Given the description of an element on the screen output the (x, y) to click on. 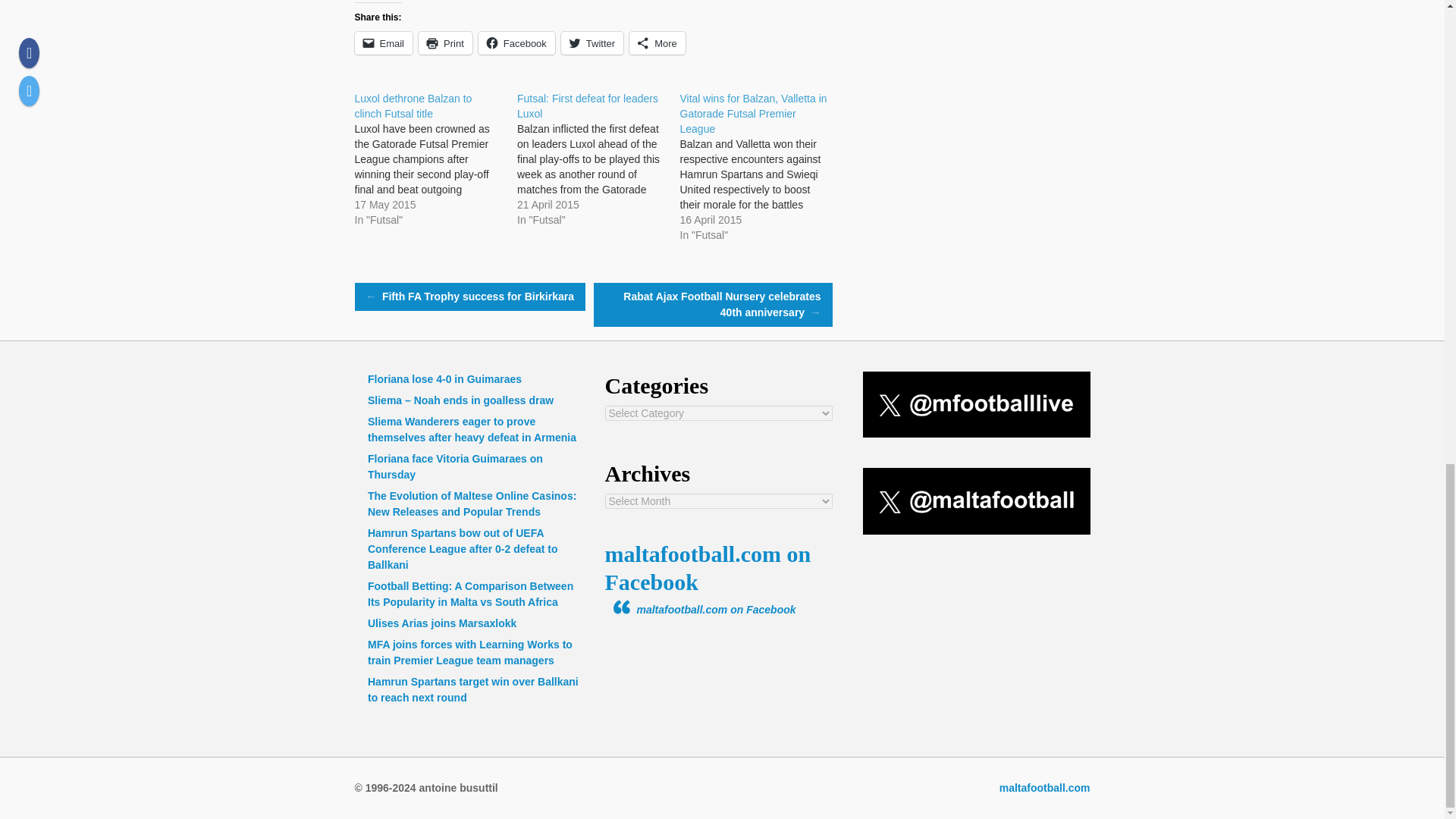
Luxol dethrone Balzan to clinch Futsal title (413, 105)
Luxol dethrone Balzan to clinch Futsal title (436, 158)
Click to print (445, 42)
Click to share on Twitter (591, 42)
Click to share on Facebook (516, 42)
Click to email a link to a friend (384, 42)
Futsal: First defeat for leaders Luxol (587, 105)
Futsal: First defeat for leaders Luxol (597, 158)
